Given the description of an element on the screen output the (x, y) to click on. 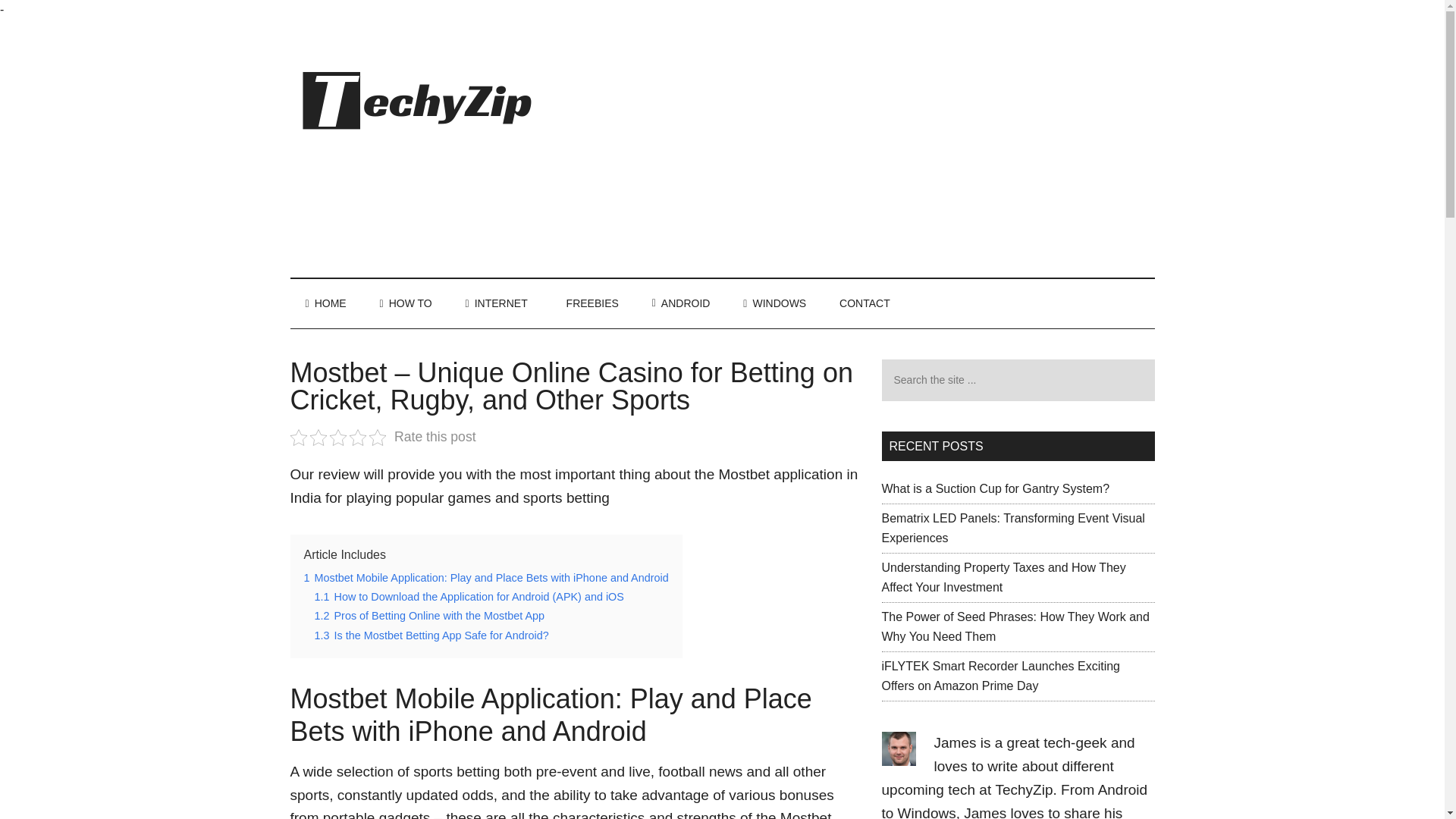
ANDROID (681, 303)
What is a Suction Cup for Gantry System? (994, 488)
Bematrix LED Panels: Transforming Event Visual Experiences (1012, 527)
FREEBIES (589, 303)
HOME (325, 303)
INTERNET (496, 303)
TechyZip (1023, 789)
1.3 Is the Mostbet Betting App Safe for Android? (431, 635)
CONTACT (864, 303)
WINDOWS (774, 303)
1.2 Pros of Betting Online with the Mostbet App (429, 615)
